Given the description of an element on the screen output the (x, y) to click on. 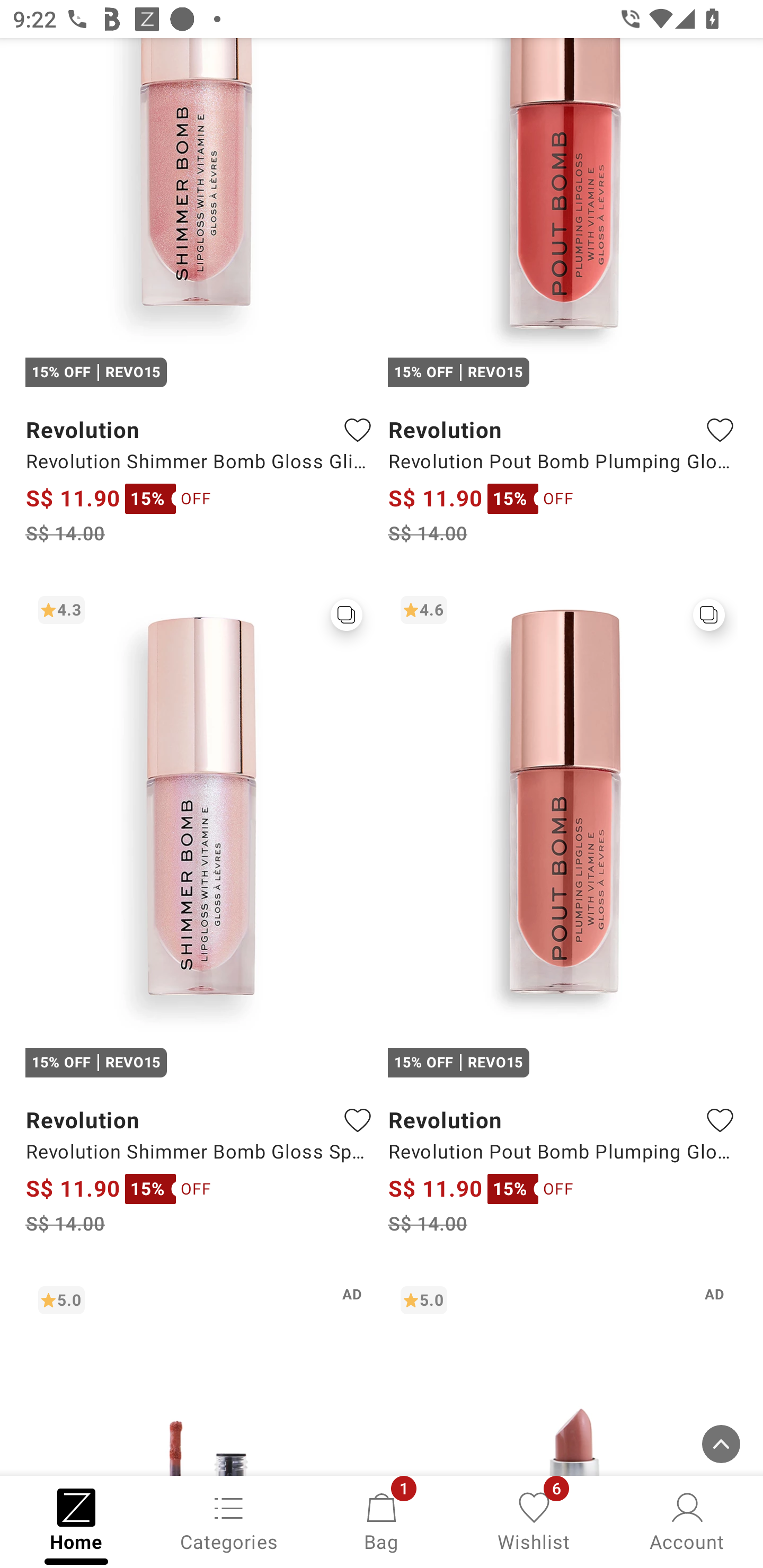
Categories (228, 1519)
Bag, 1 new notification Bag (381, 1519)
Wishlist, 6 new notifications Wishlist (533, 1519)
Account (686, 1519)
